Given the description of an element on the screen output the (x, y) to click on. 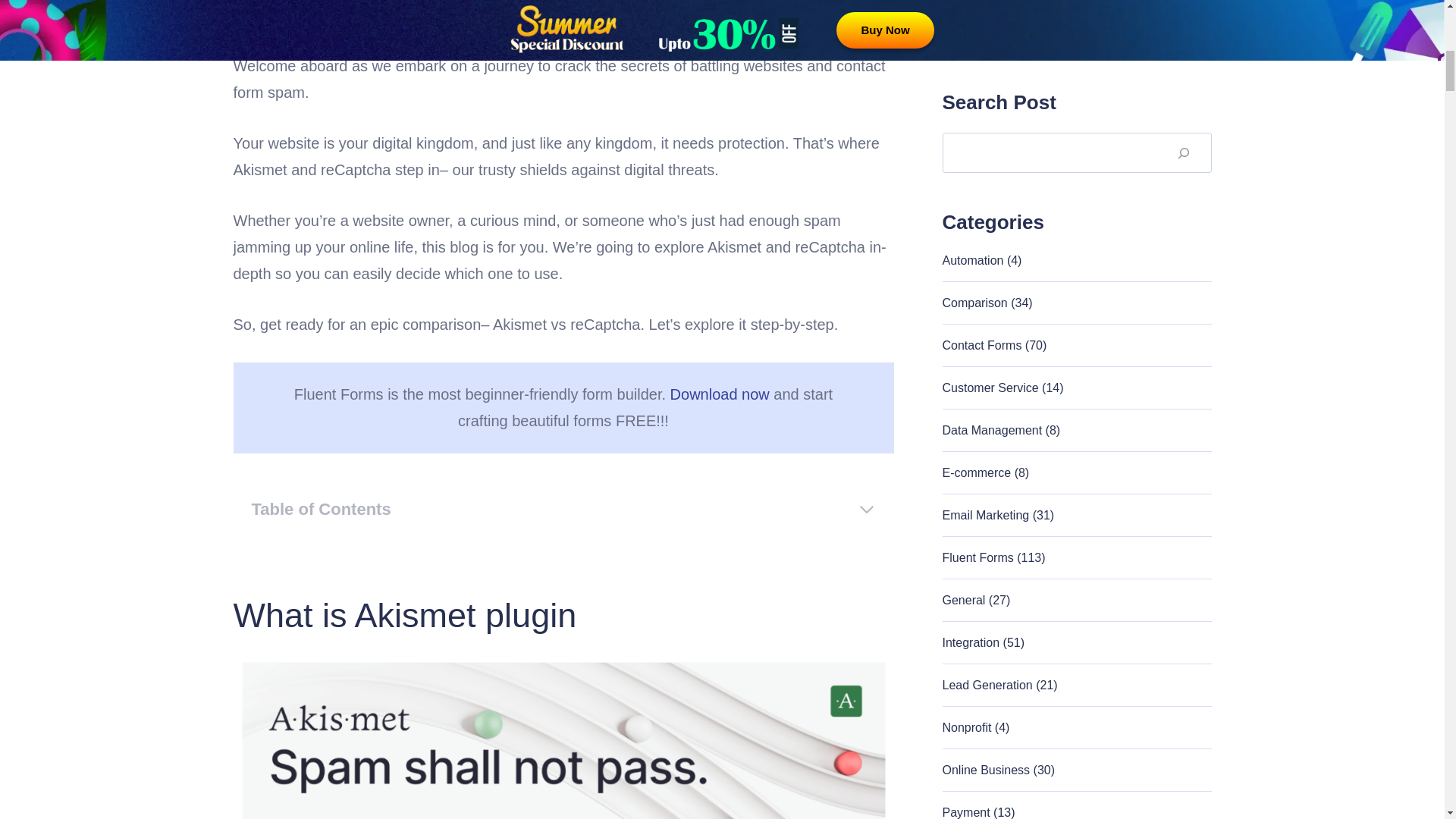
Table of Contents (563, 509)
Download now (719, 393)
